Given the description of an element on the screen output the (x, y) to click on. 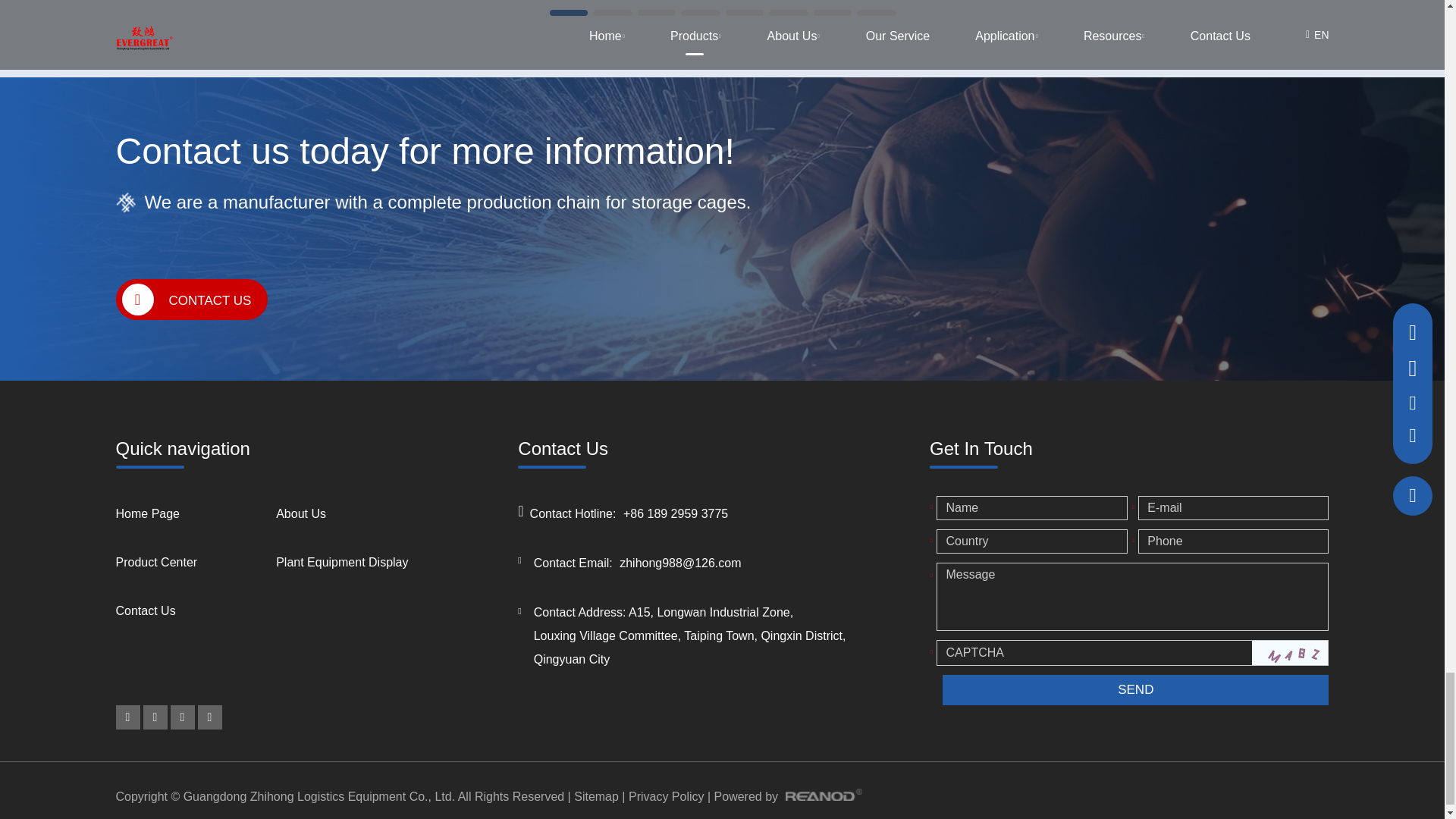
SEND (1134, 689)
